Given the description of an element on the screen output the (x, y) to click on. 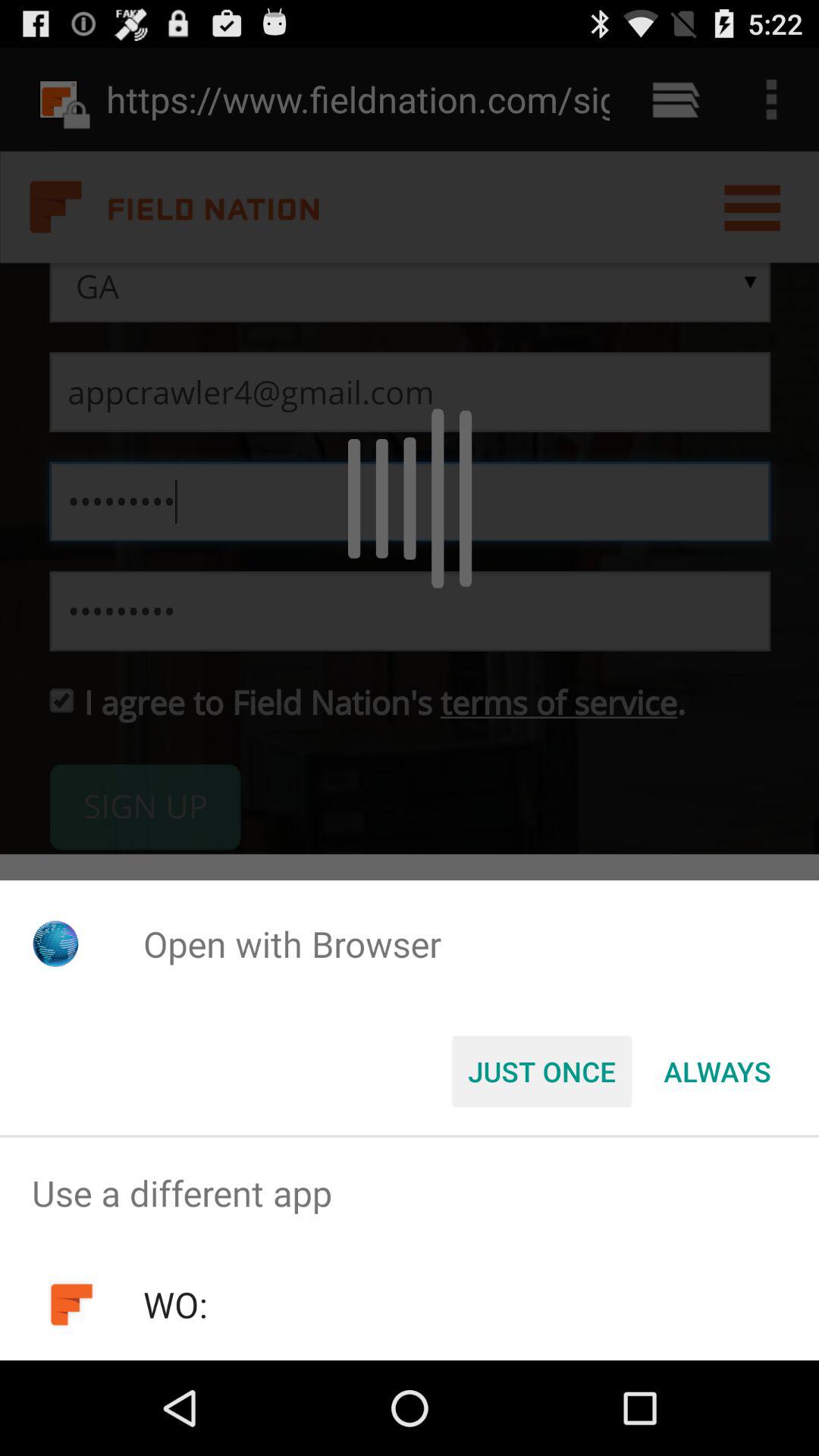
swipe to use a different (409, 1192)
